Given the description of an element on the screen output the (x, y) to click on. 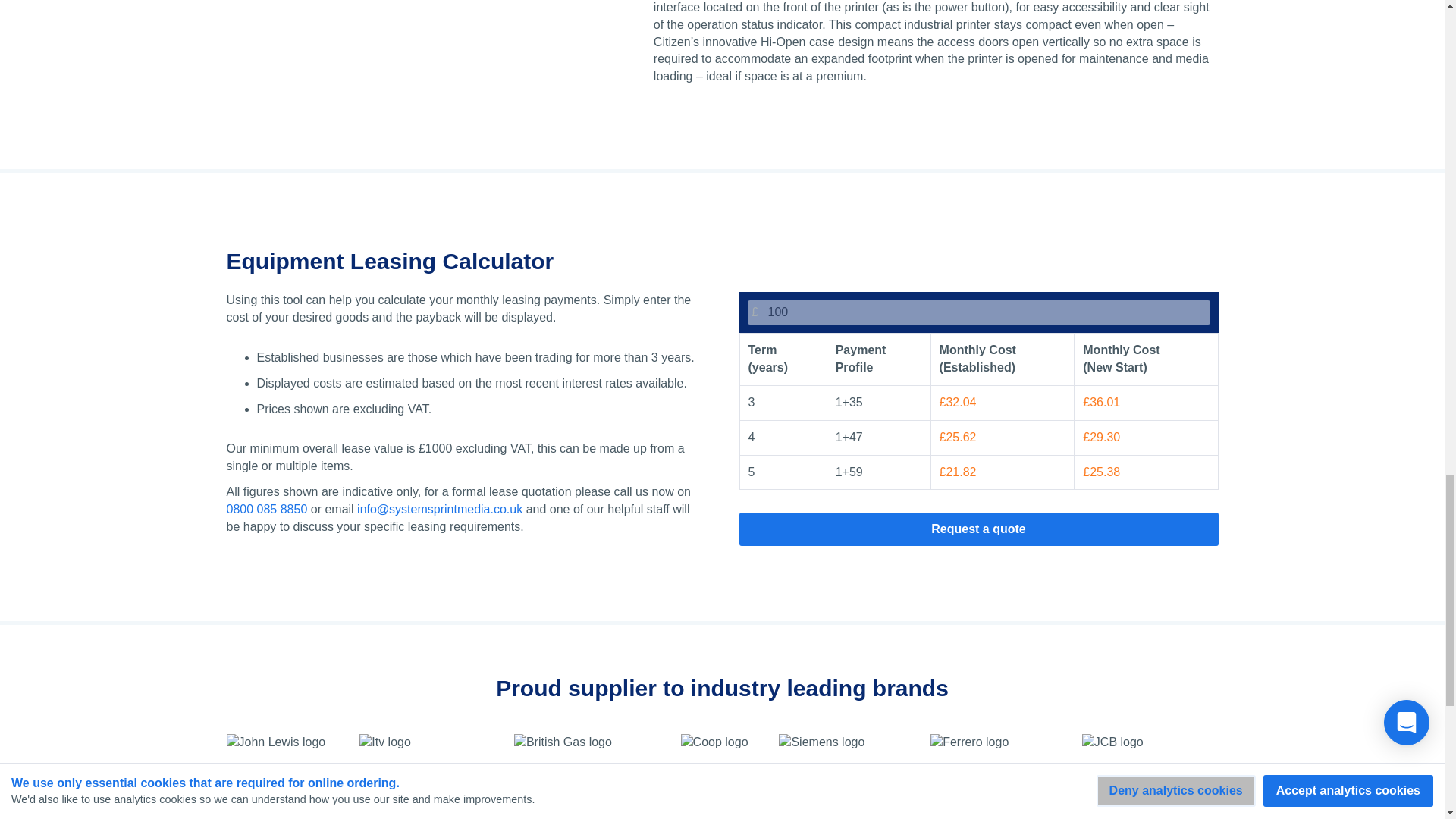
100 (978, 312)
